Given the description of an element on the screen output the (x, y) to click on. 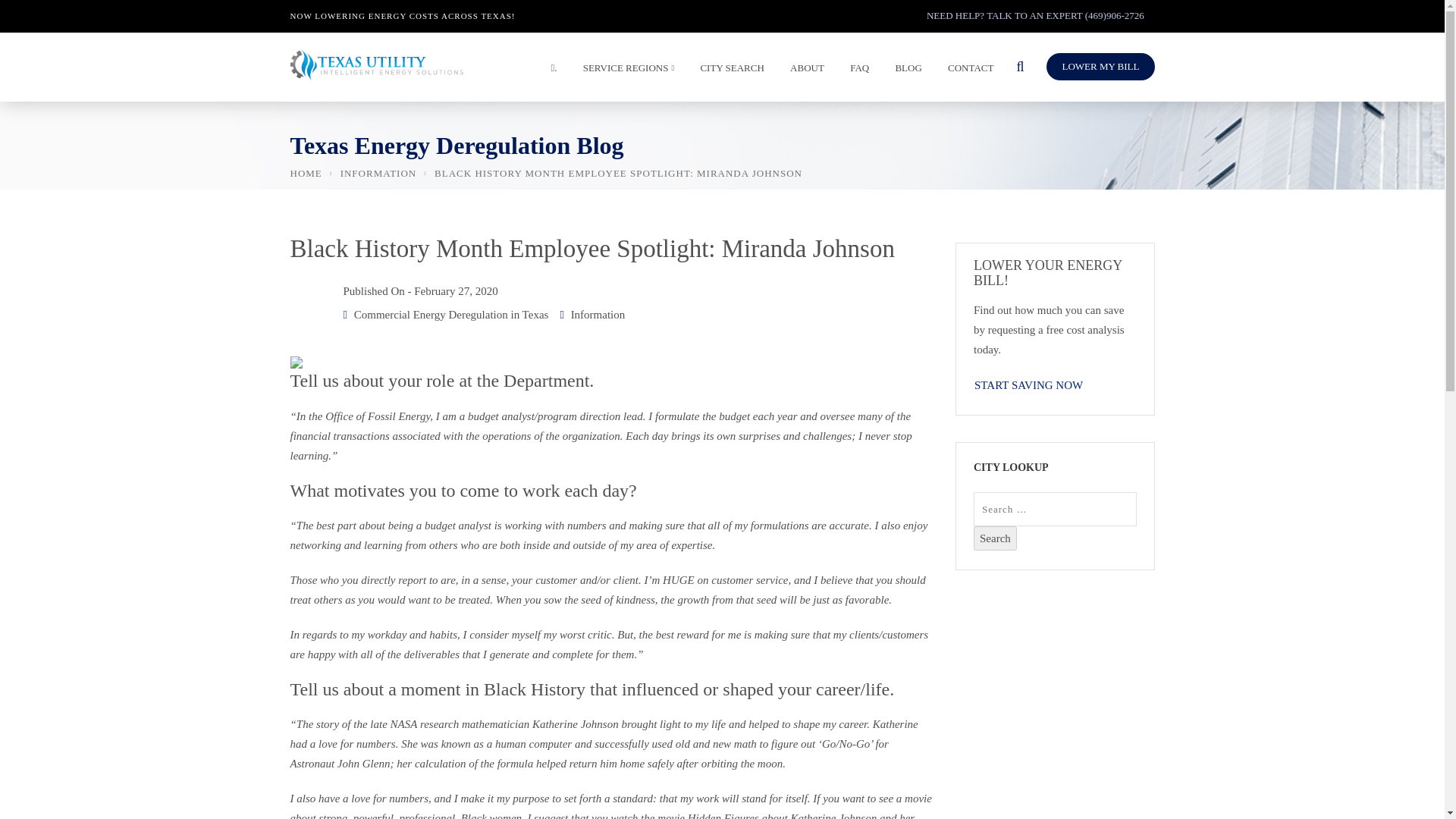
Company Information (802, 71)
Commercial Energy Deregulation in Texas (450, 314)
FAQ (855, 71)
SERVICE REGIONS (625, 71)
CONTACT (965, 71)
ABOUT (802, 71)
BLOG (903, 71)
Information (598, 314)
Search (995, 538)
CITY SEARCH (726, 71)
